Given the description of an element on the screen output the (x, y) to click on. 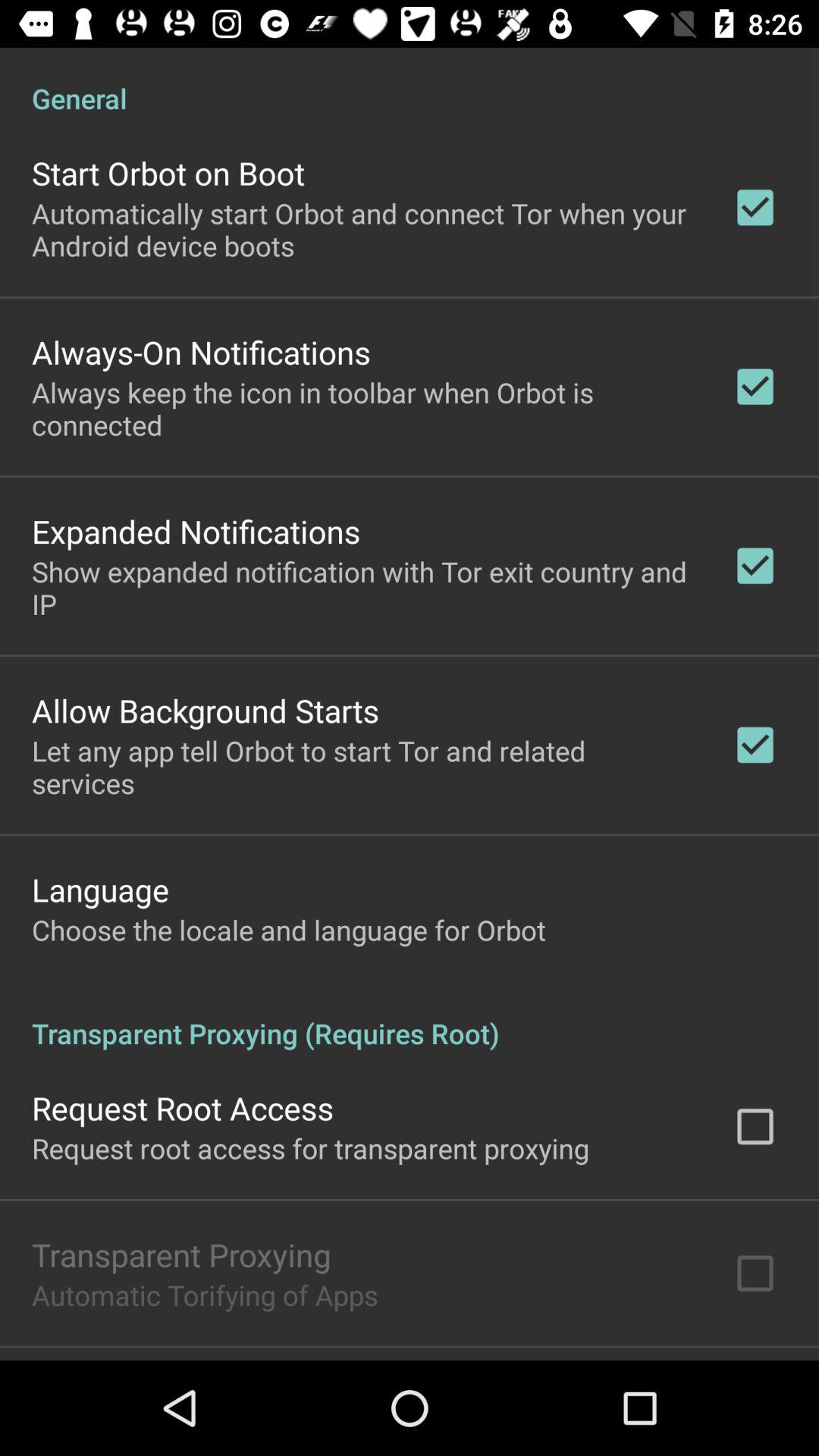
turn off the icon above the expanded notifications app (361, 408)
